Given the description of an element on the screen output the (x, y) to click on. 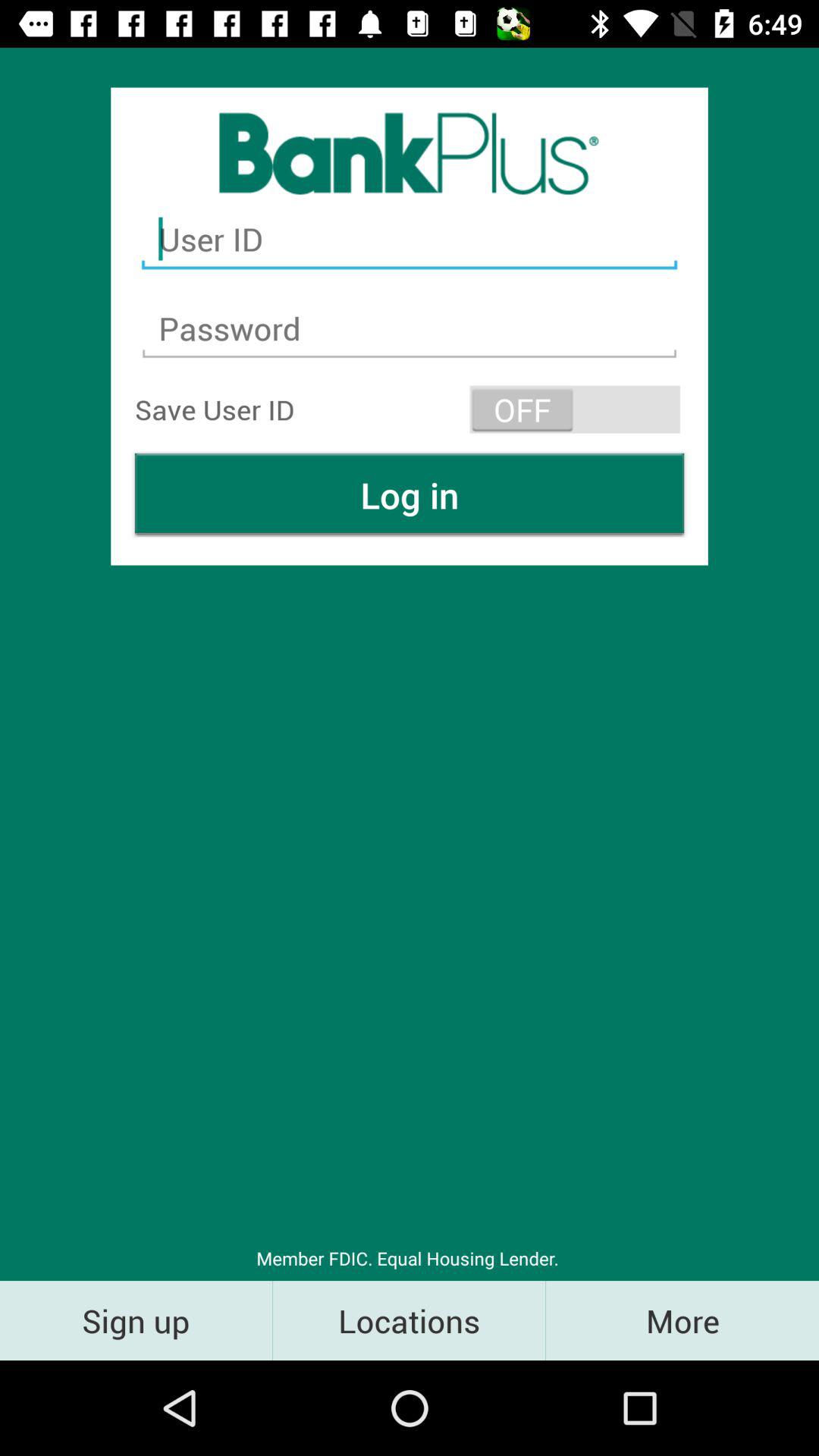
turn off icon at the center (409, 494)
